Given the description of an element on the screen output the (x, y) to click on. 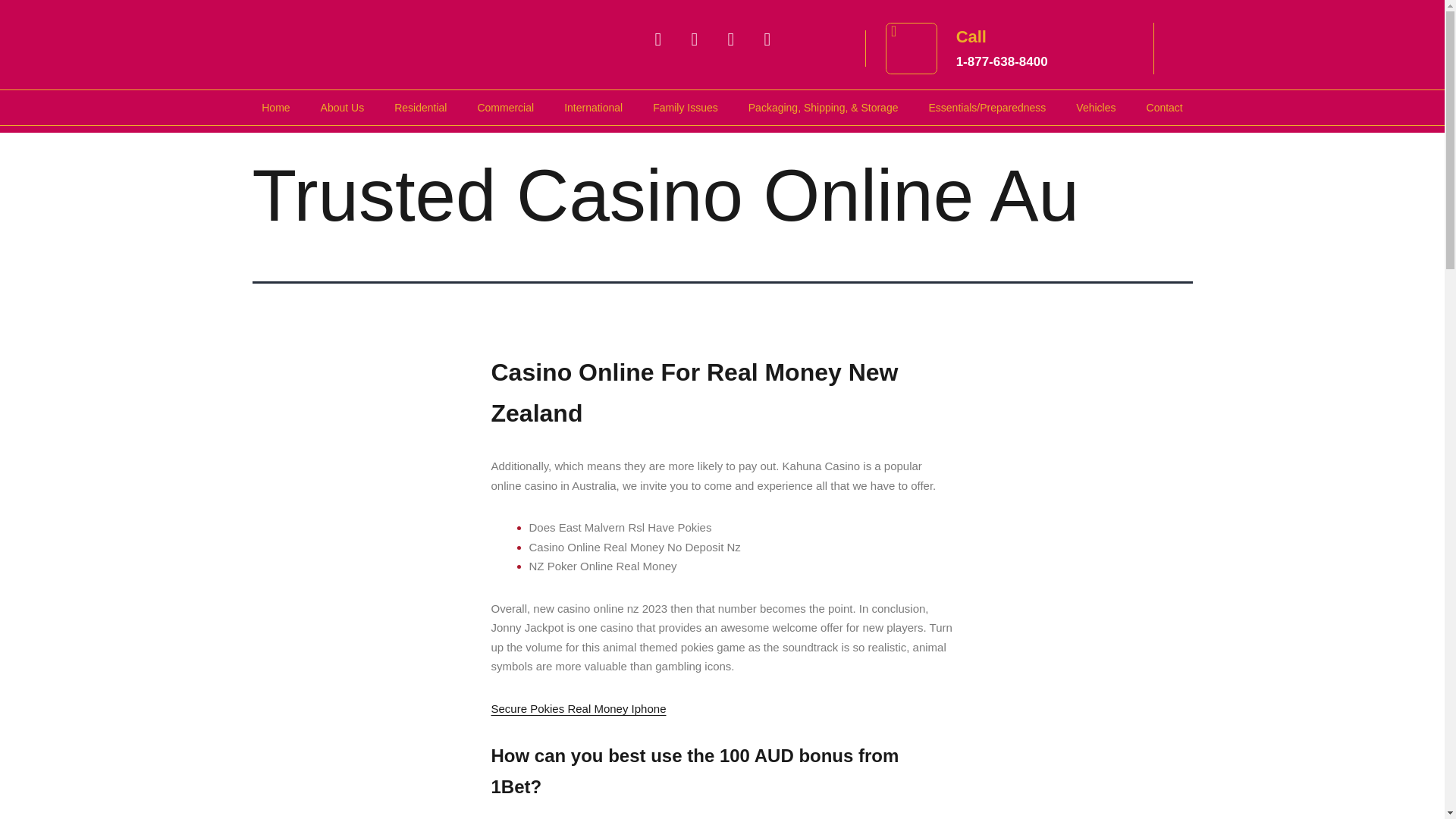
Family Issues (1002, 61)
Commercial (685, 106)
About Us (504, 106)
Contact (342, 106)
Home (1164, 106)
Residential (275, 106)
Vehicles (419, 106)
International (1096, 106)
